Given the description of an element on the screen output the (x, y) to click on. 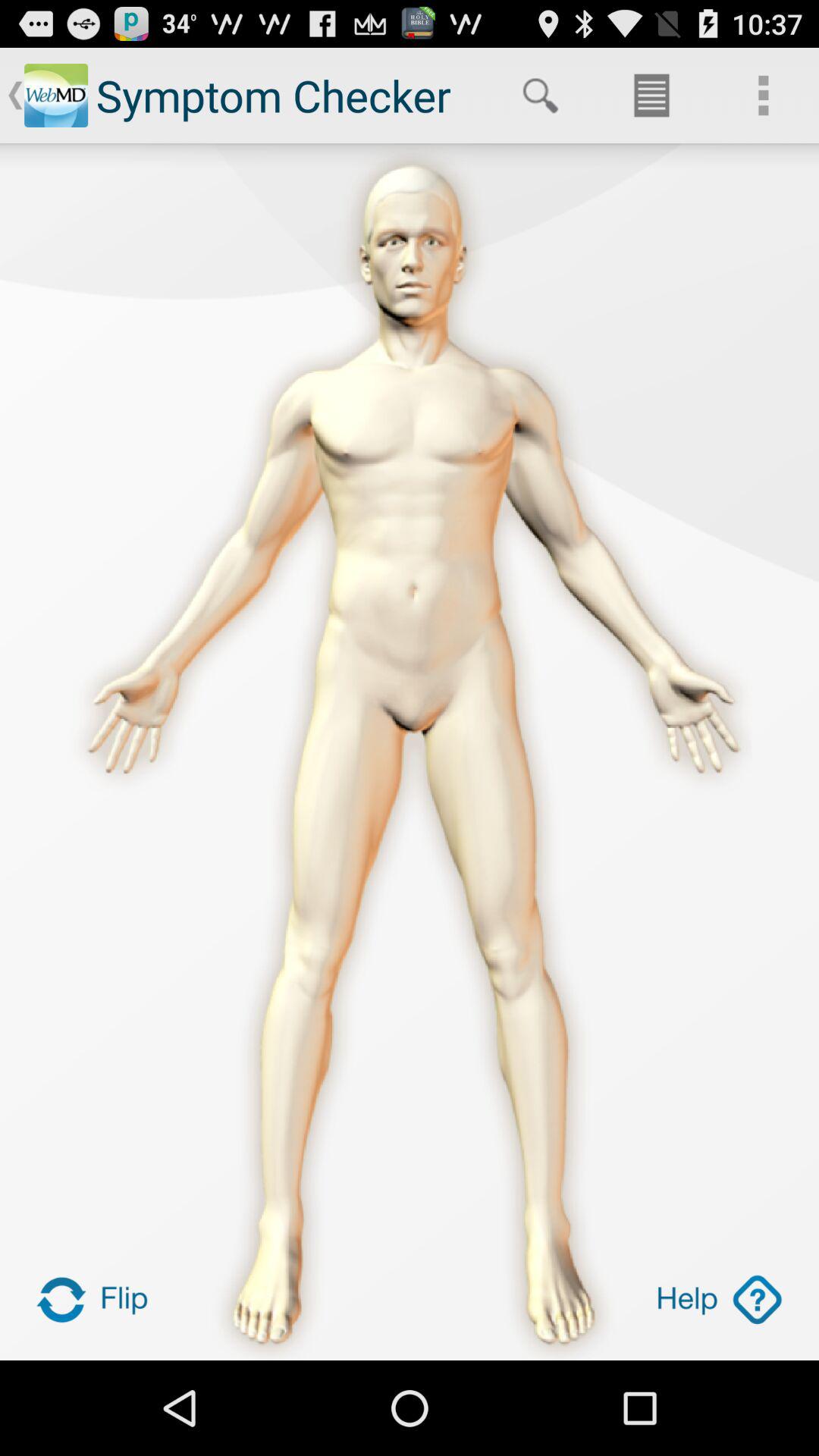
open help page (719, 1299)
